Given the description of an element on the screen output the (x, y) to click on. 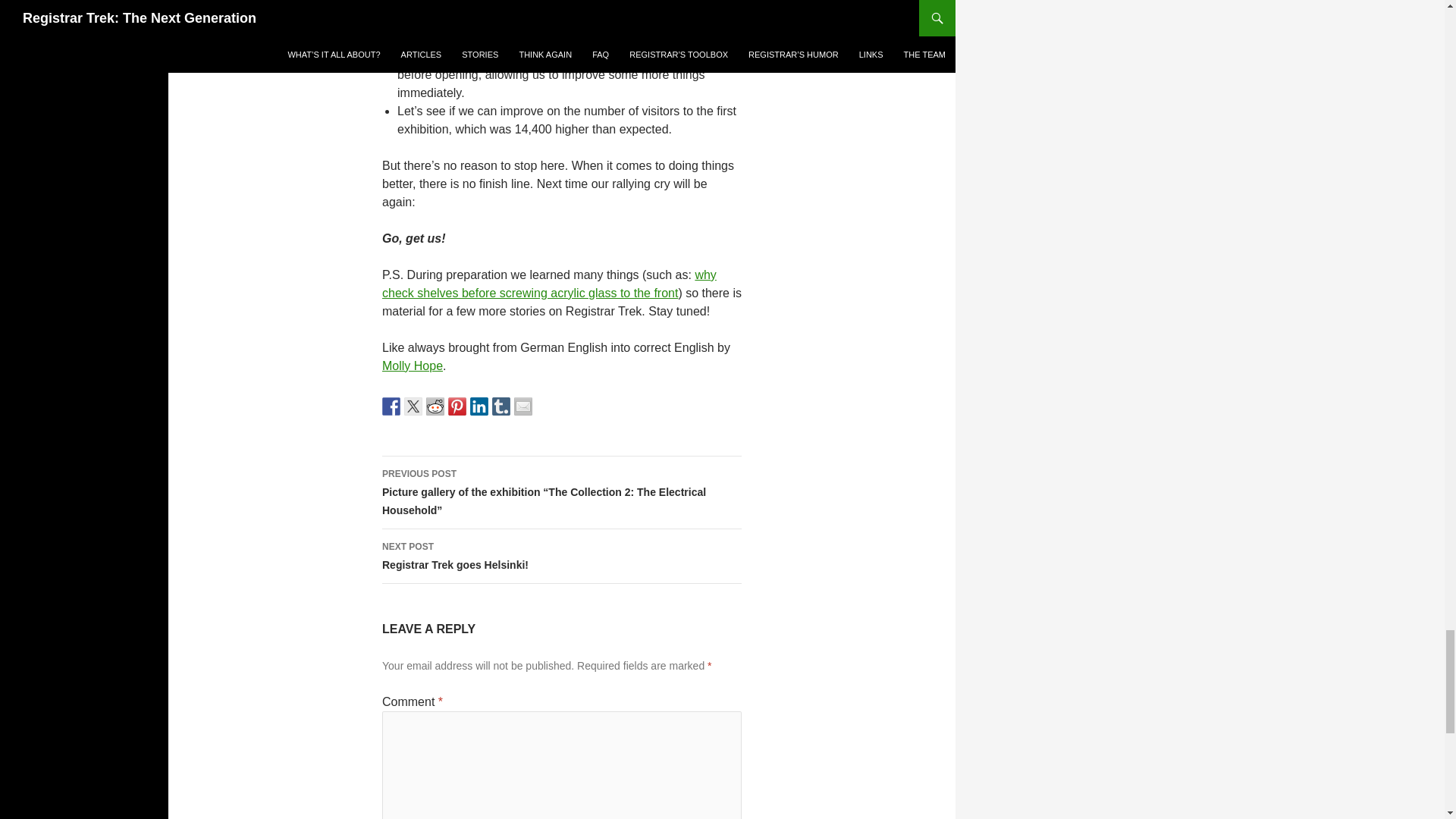
Share on tumblr (501, 406)
Translators (411, 365)
Molly Hope (411, 365)
Share on Twitter (413, 406)
Share on Linkedin (478, 406)
Share on Facebook (390, 406)
Pin it with Pinterest (456, 406)
why check shelves before screwing acrylic glass to the front (548, 283)
Share on Reddit (435, 406)
